Given the description of an element on the screen output the (x, y) to click on. 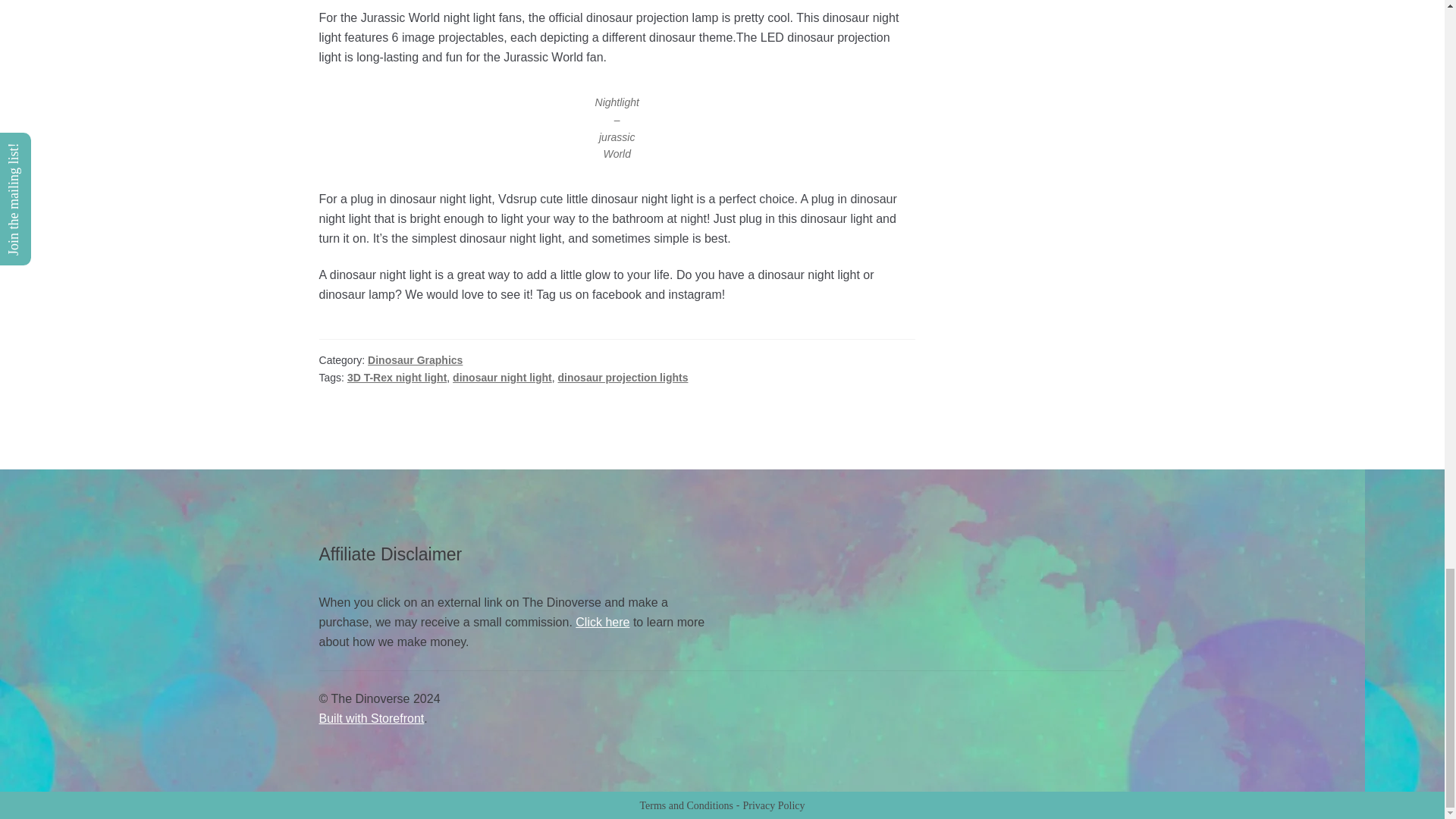
dinosaur night light (501, 377)
Dinosaur Graphics (415, 359)
dinosaur projection lights (622, 377)
3D T-Rex night light (396, 377)
